Given the description of an element on the screen output the (x, y) to click on. 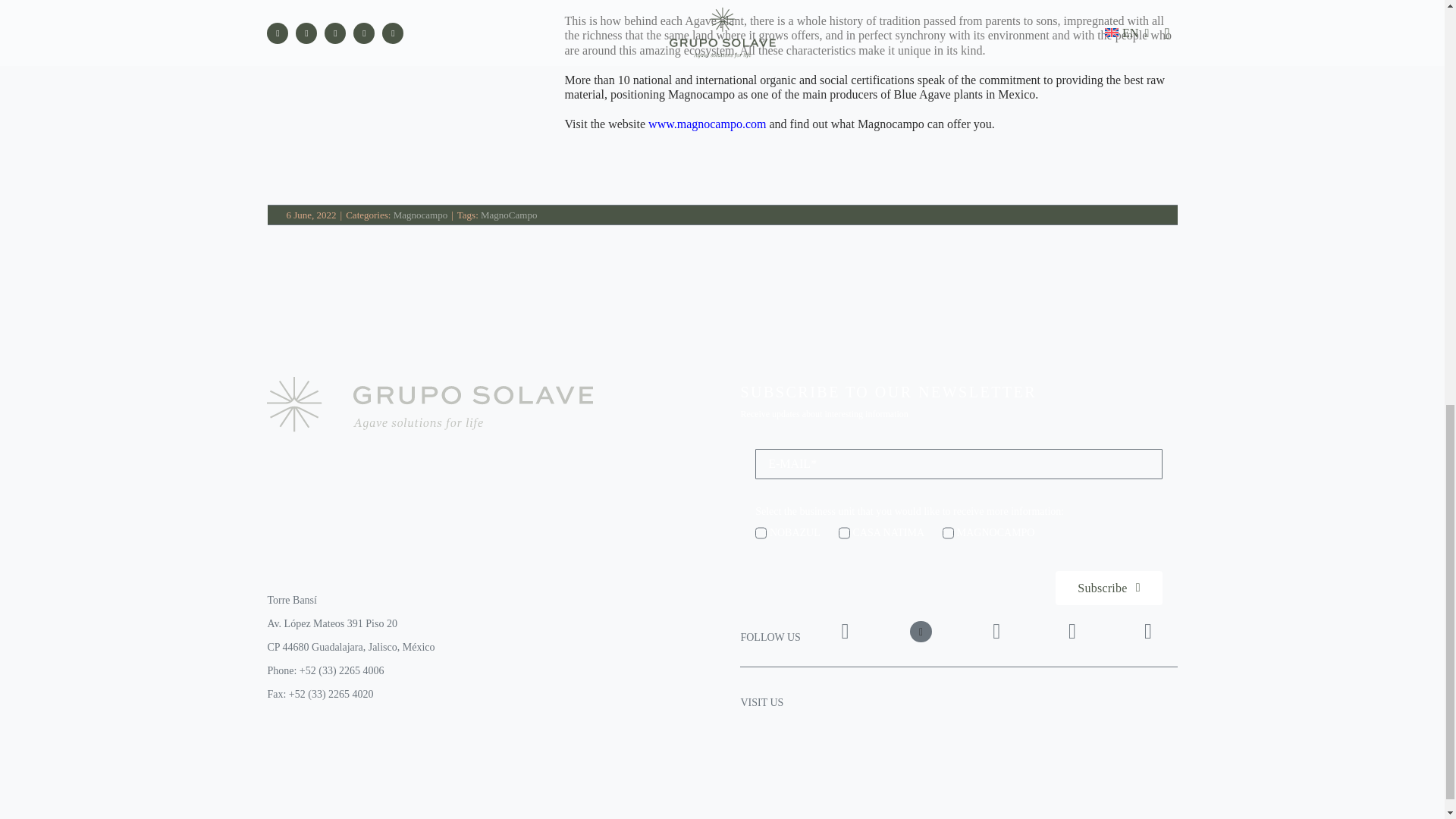
www.magnocampo.com (706, 123)
Subscribe (1108, 587)
MagnoCampo (508, 214)
Magnocampo (419, 214)
